Given the description of an element on the screen output the (x, y) to click on. 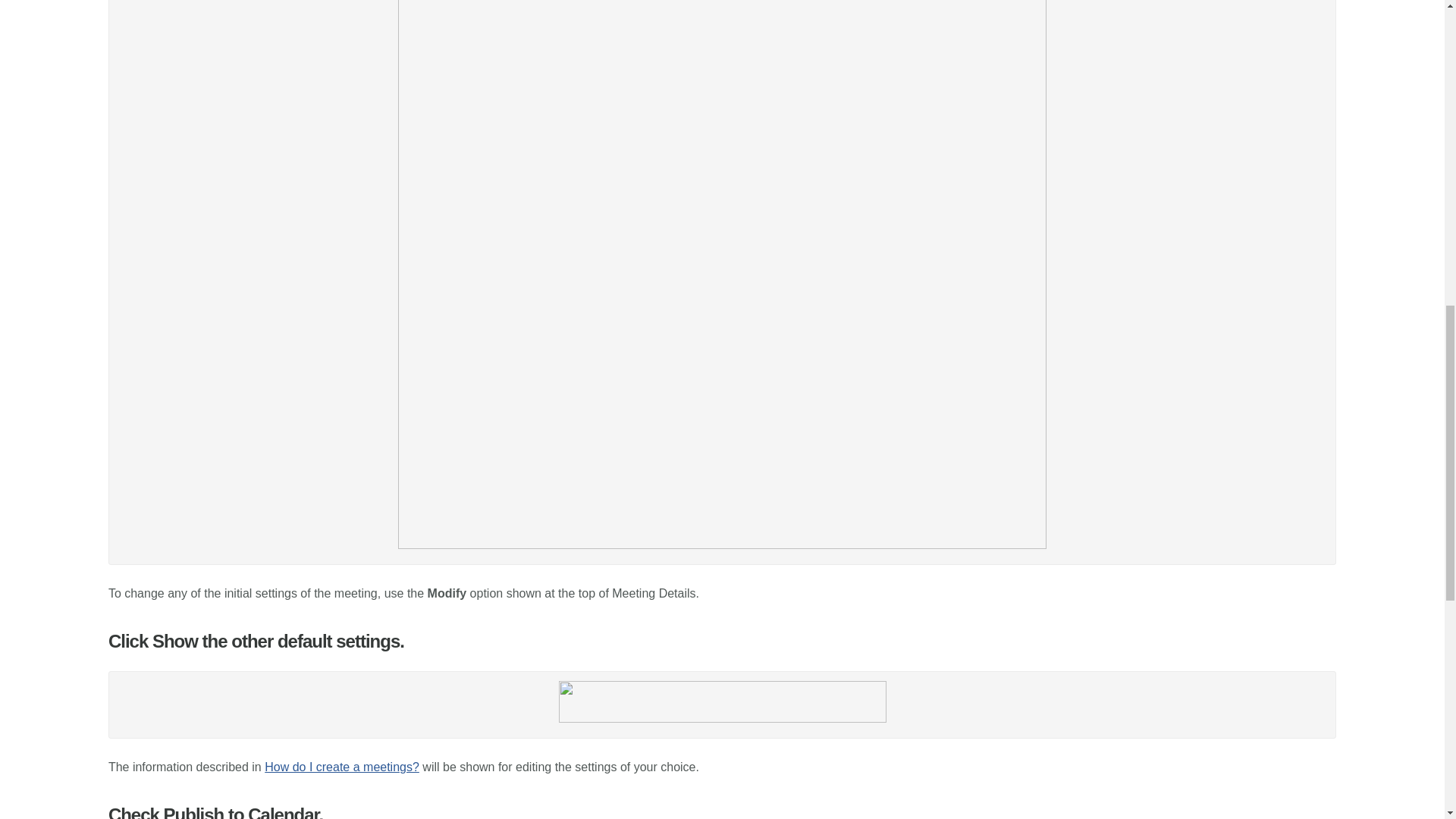
How do I create a meetings? (341, 766)
